Given the description of an element on the screen output the (x, y) to click on. 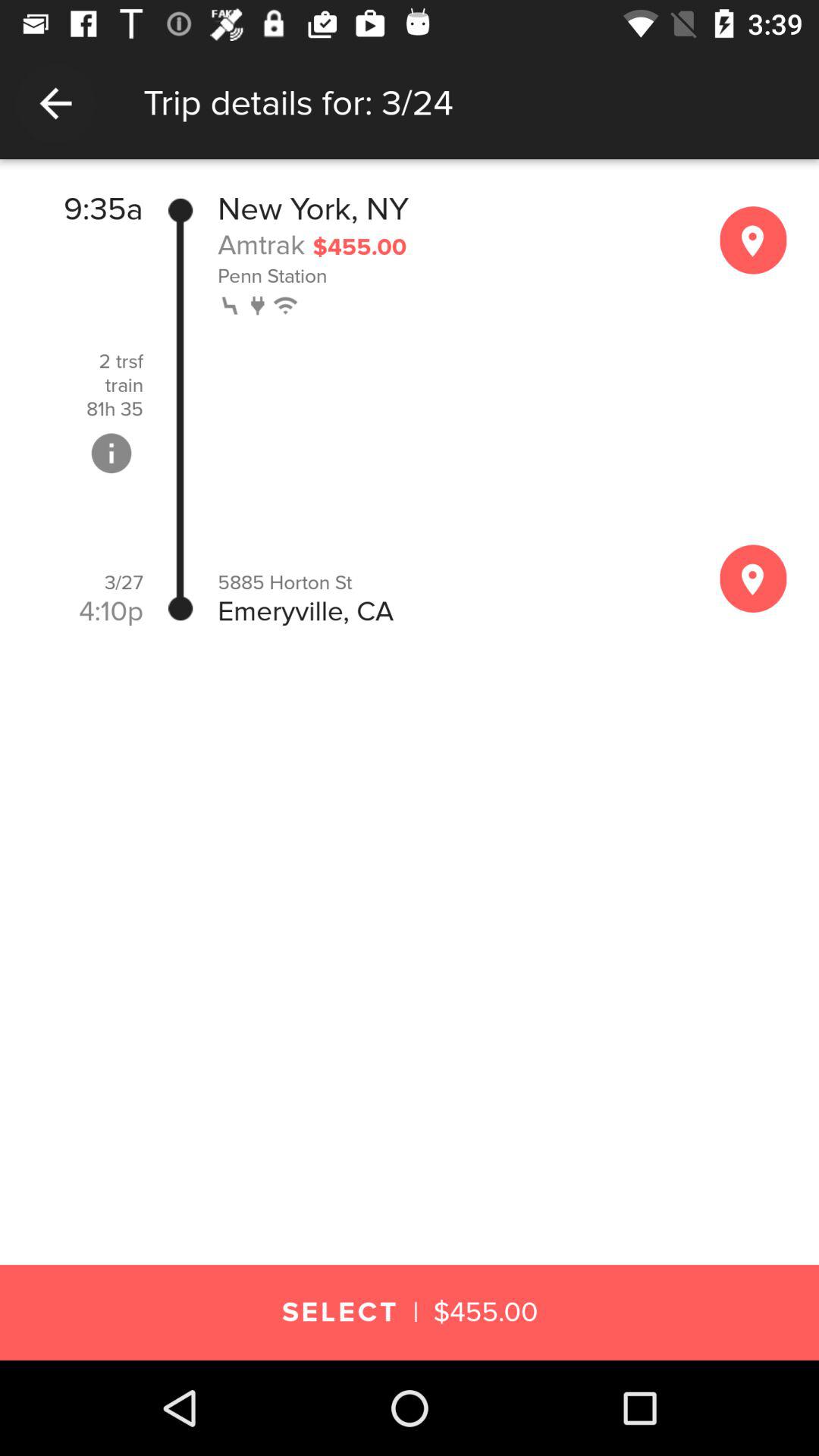
open the item to the left of trip details for icon (55, 103)
